Given the description of an element on the screen output the (x, y) to click on. 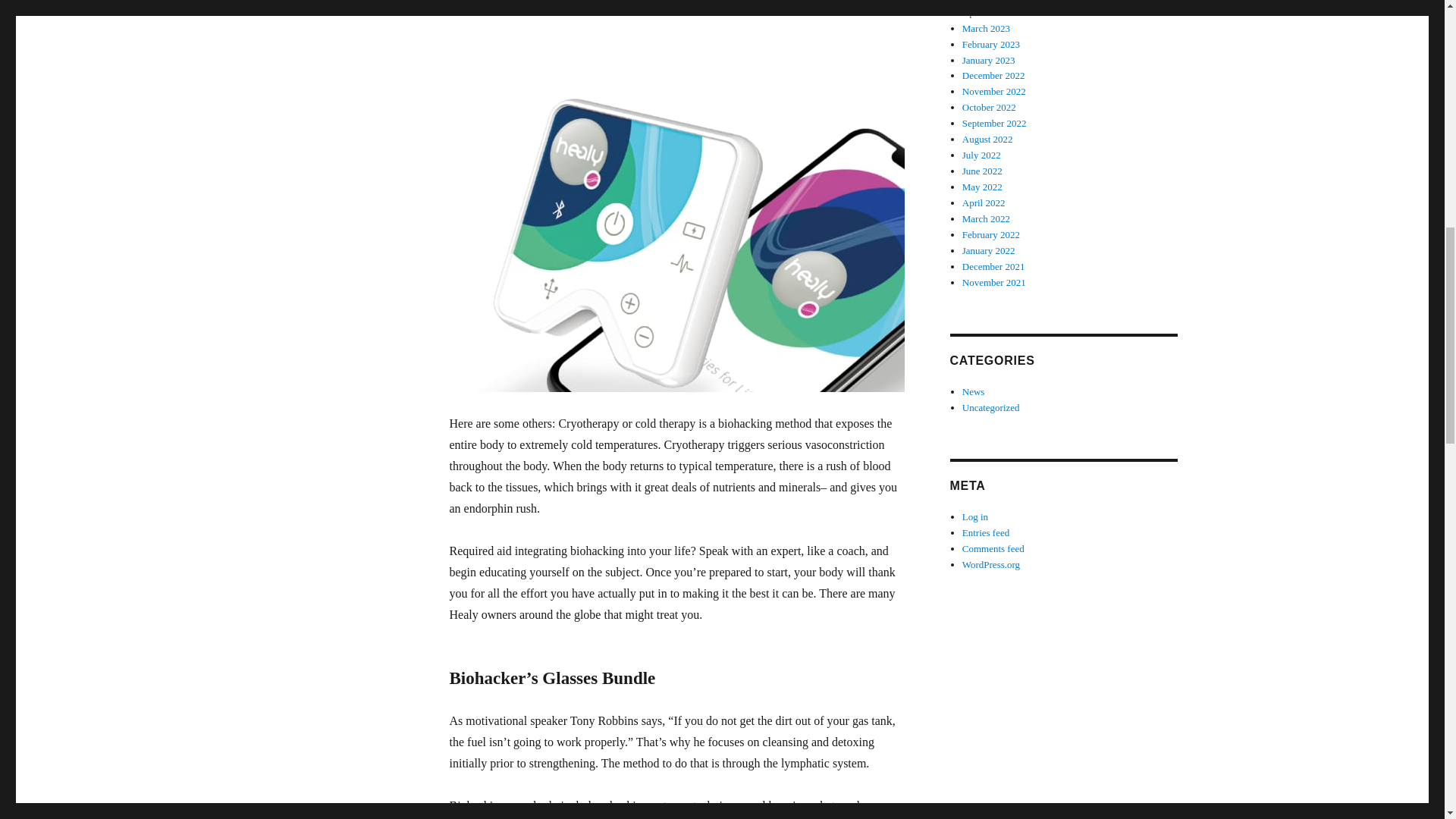
YouTube video player (660, 33)
